Given the description of an element on the screen output the (x, y) to click on. 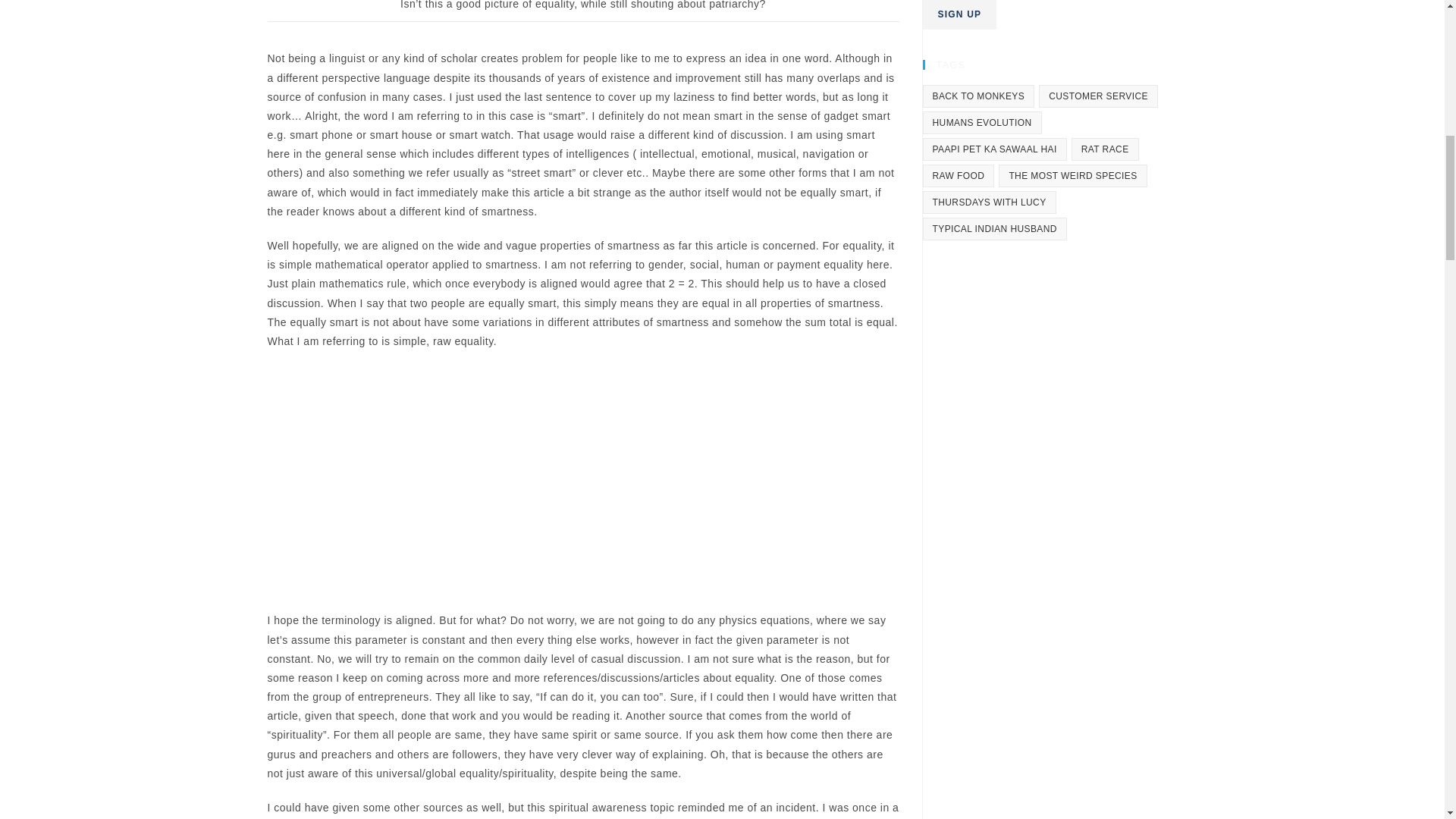
Sign up (958, 14)
BACK TO MONKEYS (977, 96)
Sign up (958, 14)
CUSTOMER SERVICE (1098, 96)
PAAPI PET KA SAWAAL HAI (993, 149)
HUMANS EVOLUTION (981, 122)
